Given the description of an element on the screen output the (x, y) to click on. 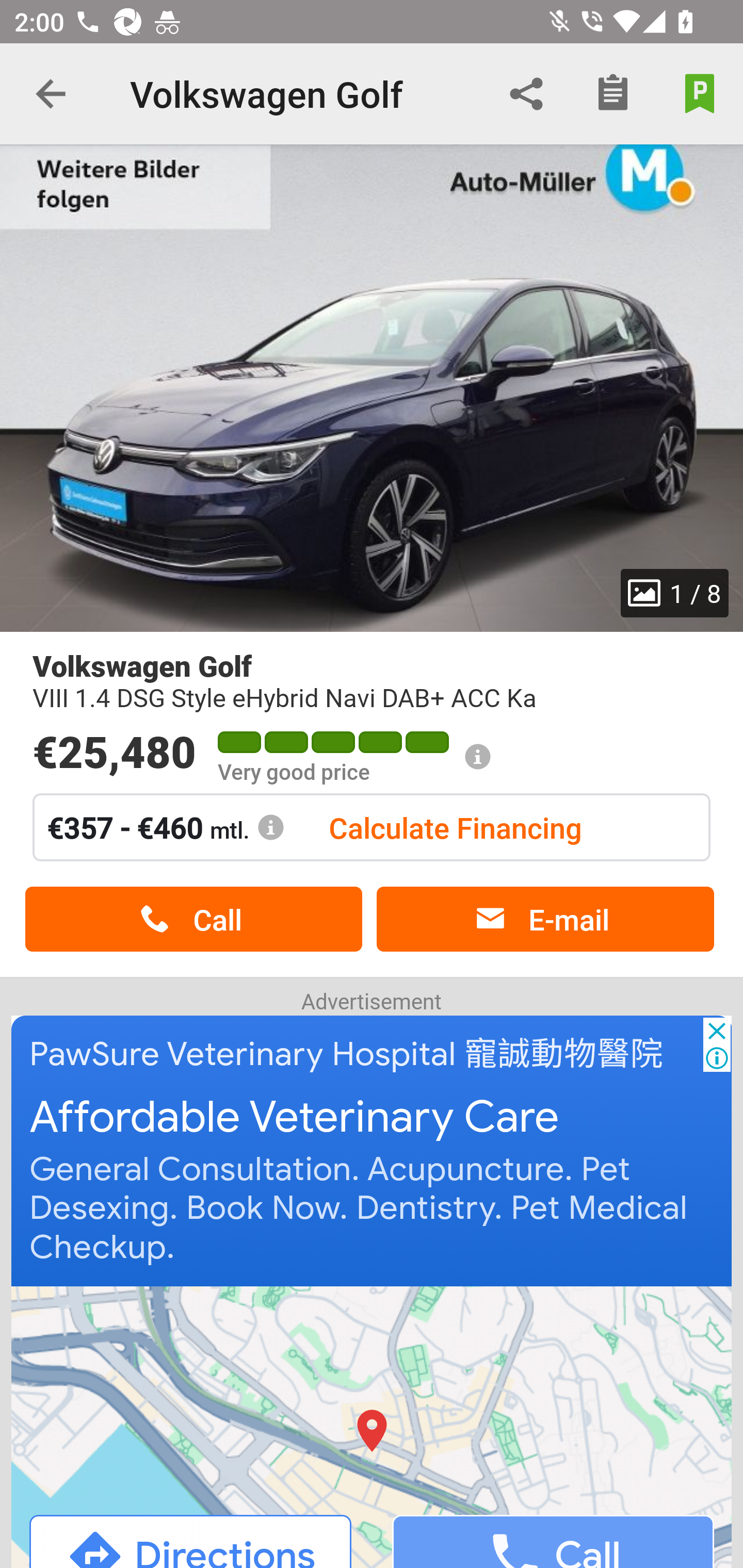
Navigate up (50, 93)
Share via (525, 93)
Checklist (612, 93)
Park (699, 93)
Calculate Financing (454, 826)
€357 - €460 mtl. (165, 826)
Call (193, 919)
E-mail (545, 919)
PawSure Veterinary Hospital 寵誠動物醫院 (346, 1054)
Affordable Veterinary Care (294, 1117)
Directions Call Directions Call (372, 1426)
